Given the description of an element on the screen output the (x, y) to click on. 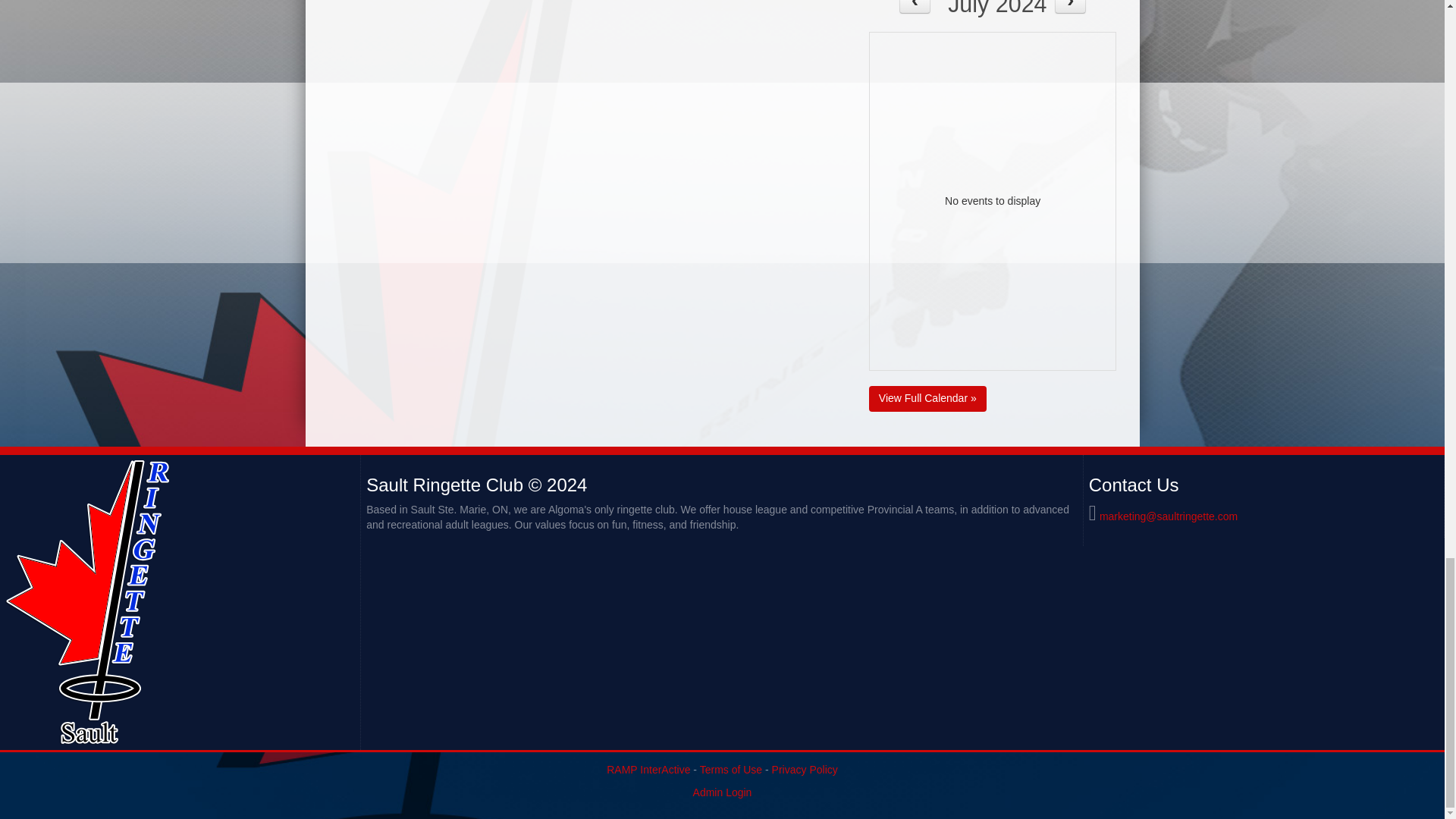
No events to display (992, 201)
